Given the description of an element on the screen output the (x, y) to click on. 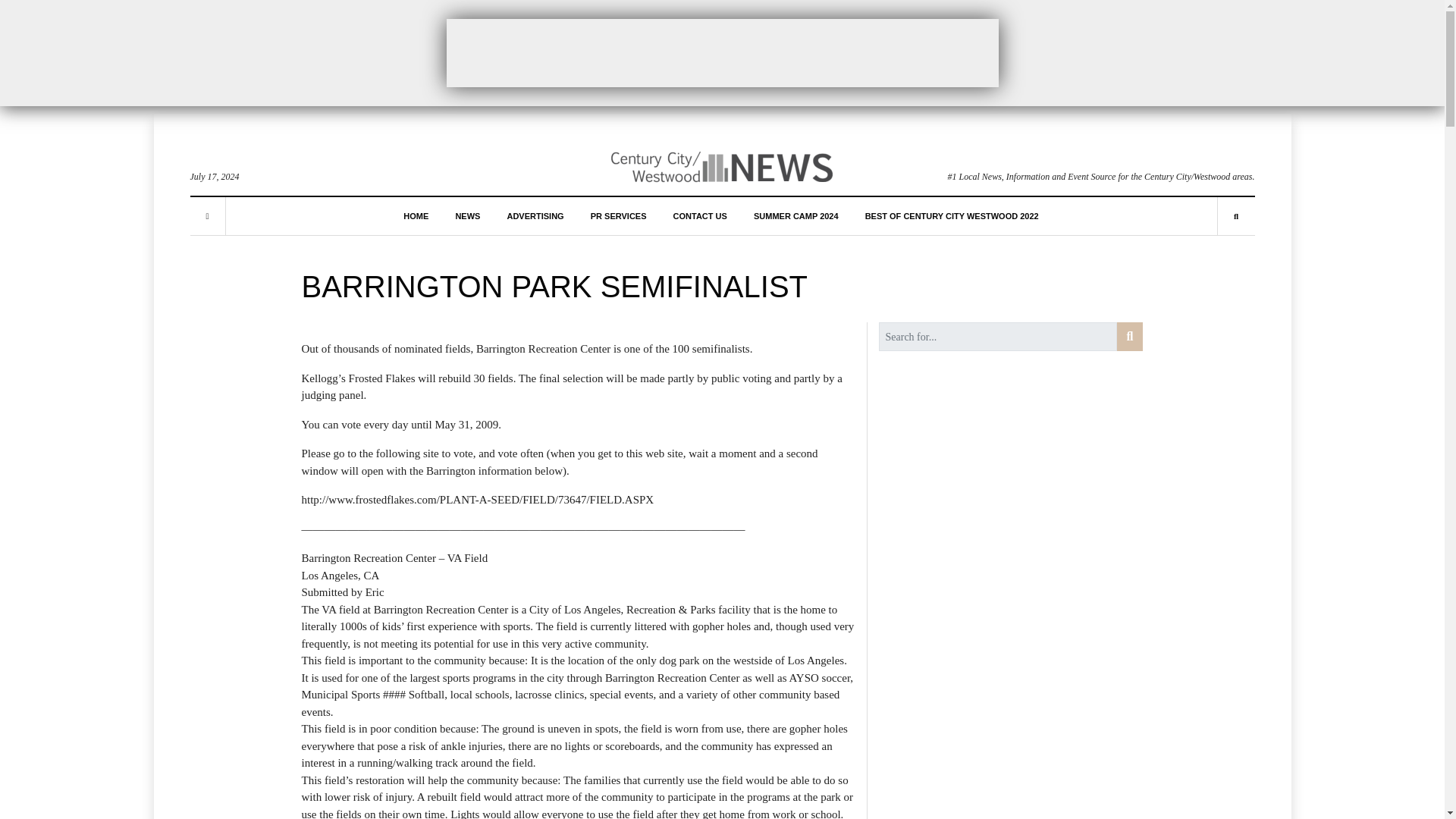
3rd party ad content (721, 52)
HOME (415, 216)
ADVERTISING (534, 216)
SUMMER CAMP 2024 (796, 216)
CONTACT US (699, 216)
BEST OF CENTURY CITY WESTWOOD 2022 (951, 216)
NEWS (467, 216)
PR SERVICES (618, 216)
